Given the description of an element on the screen output the (x, y) to click on. 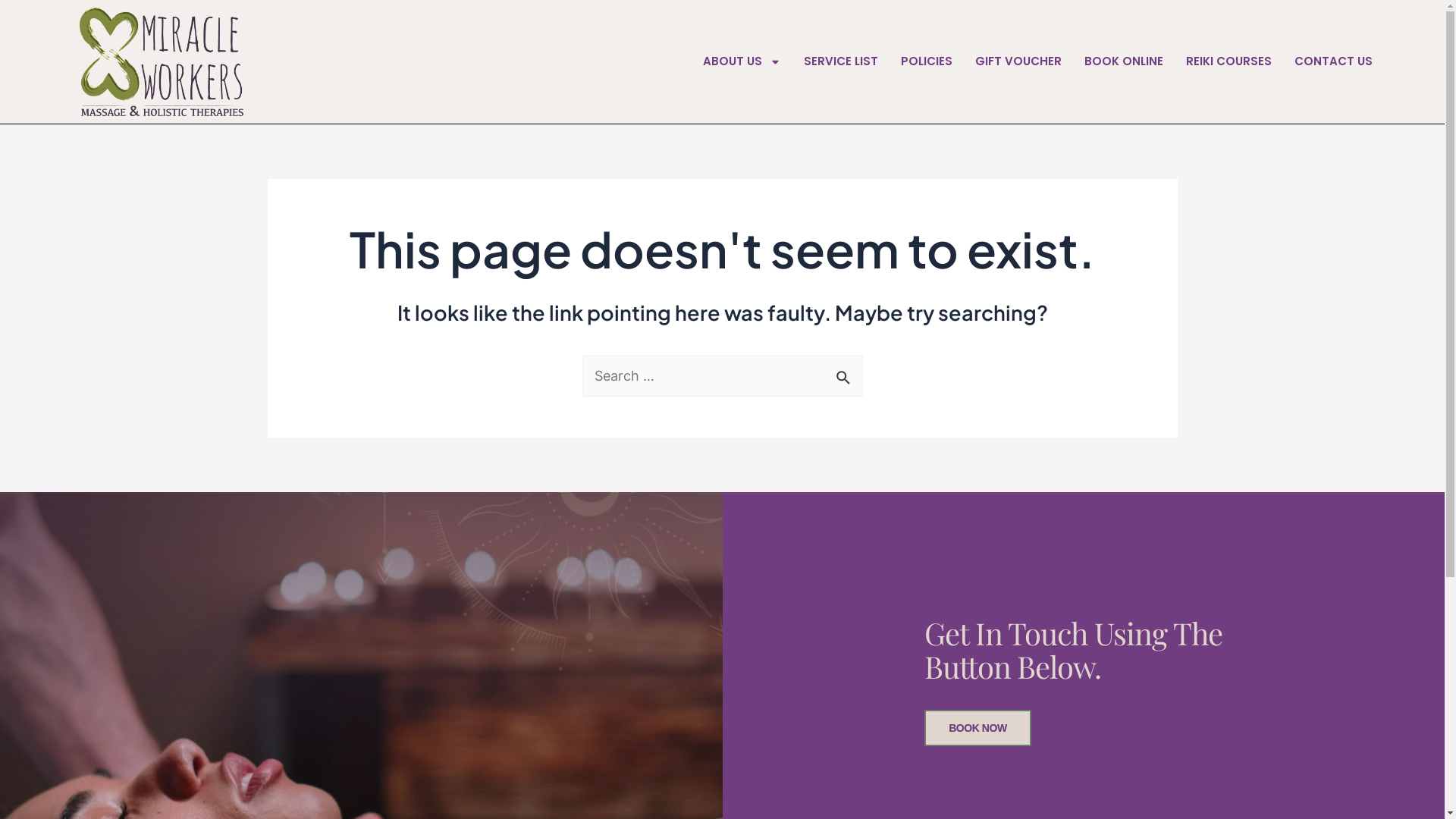
GIFT VOUCHER Element type: text (1018, 61)
POLICIES Element type: text (926, 61)
BOOK NOW Element type: text (977, 727)
SERVICE LIST Element type: text (840, 61)
BOOK ONLINE Element type: text (1123, 61)
REIKI COURSES Element type: text (1228, 61)
CONTACT US Element type: text (1333, 61)
ABOUT US Element type: text (741, 61)
Search Element type: text (845, 371)
